Given the description of an element on the screen output the (x, y) to click on. 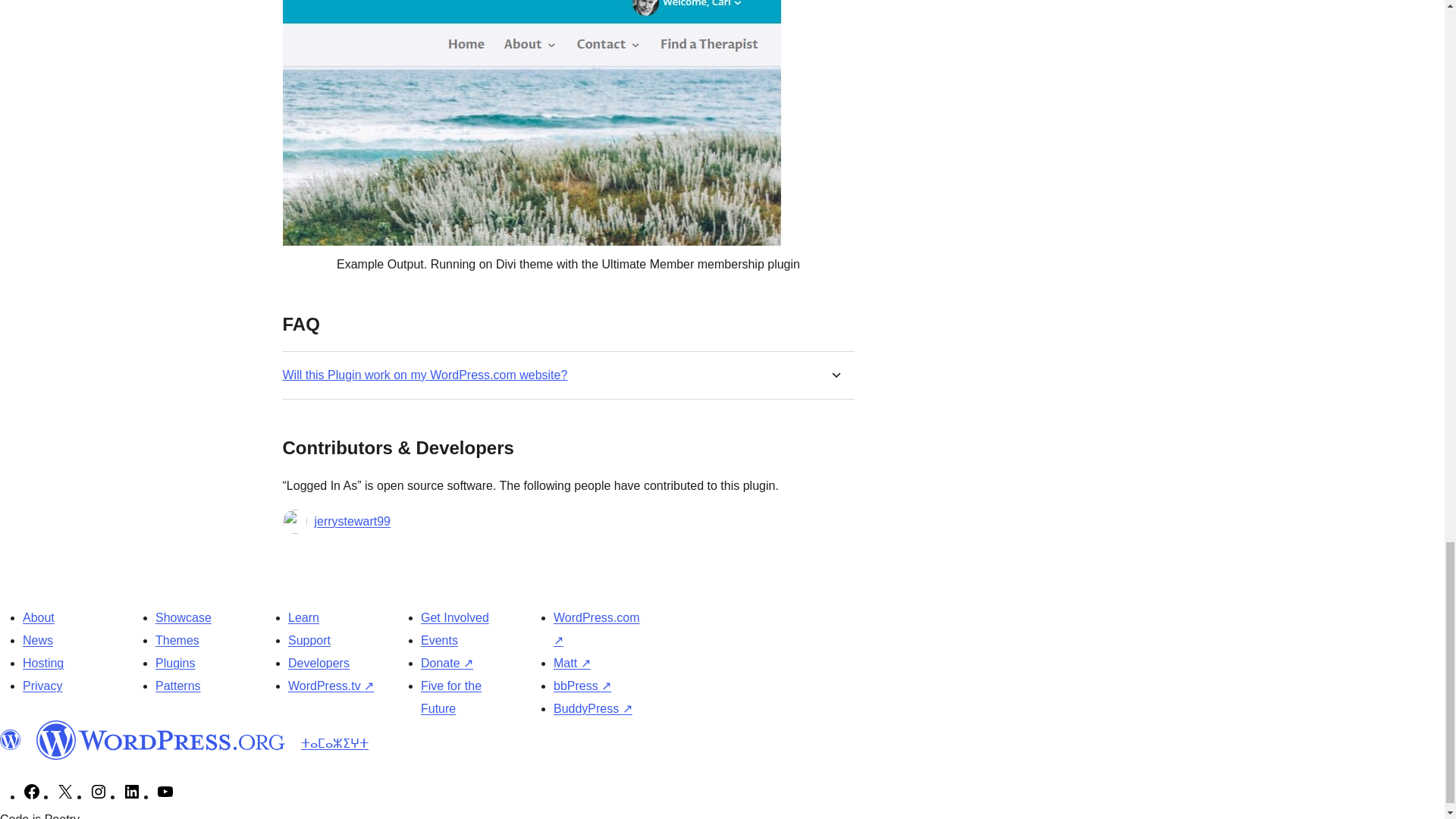
WordPress.org (160, 740)
WordPress.org (10, 740)
Will this Plugin work on my WordPress.com website? (424, 374)
